Given the description of an element on the screen output the (x, y) to click on. 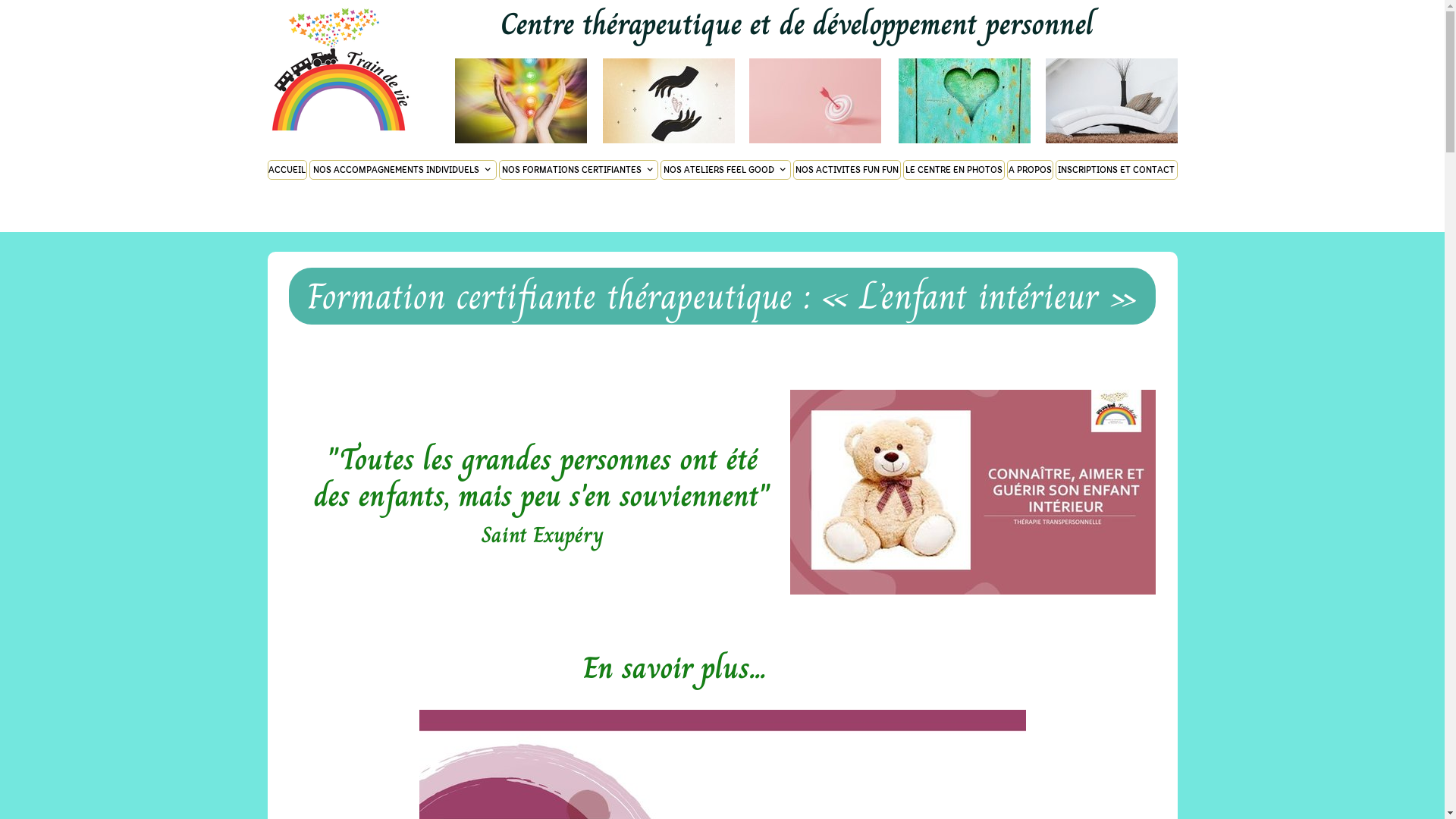
NOS ACTIVITES FUN FUN Element type: text (846, 168)
A PROPOS Element type: text (1030, 168)
ACCUEIL Element type: text (286, 168)
NOS ACCOMPAGNEMENTS INDIVIDUELS Element type: text (402, 168)
NOS FORMATIONS CERTIFIANTES Element type: text (578, 168)
INSCRIPTIONS ET CONTACT Element type: text (1116, 168)
LE CENTRE EN PHOTOS Element type: text (953, 168)
NOS ATELIERS FEEL GOOD Element type: text (725, 168)
